Given the description of an element on the screen output the (x, y) to click on. 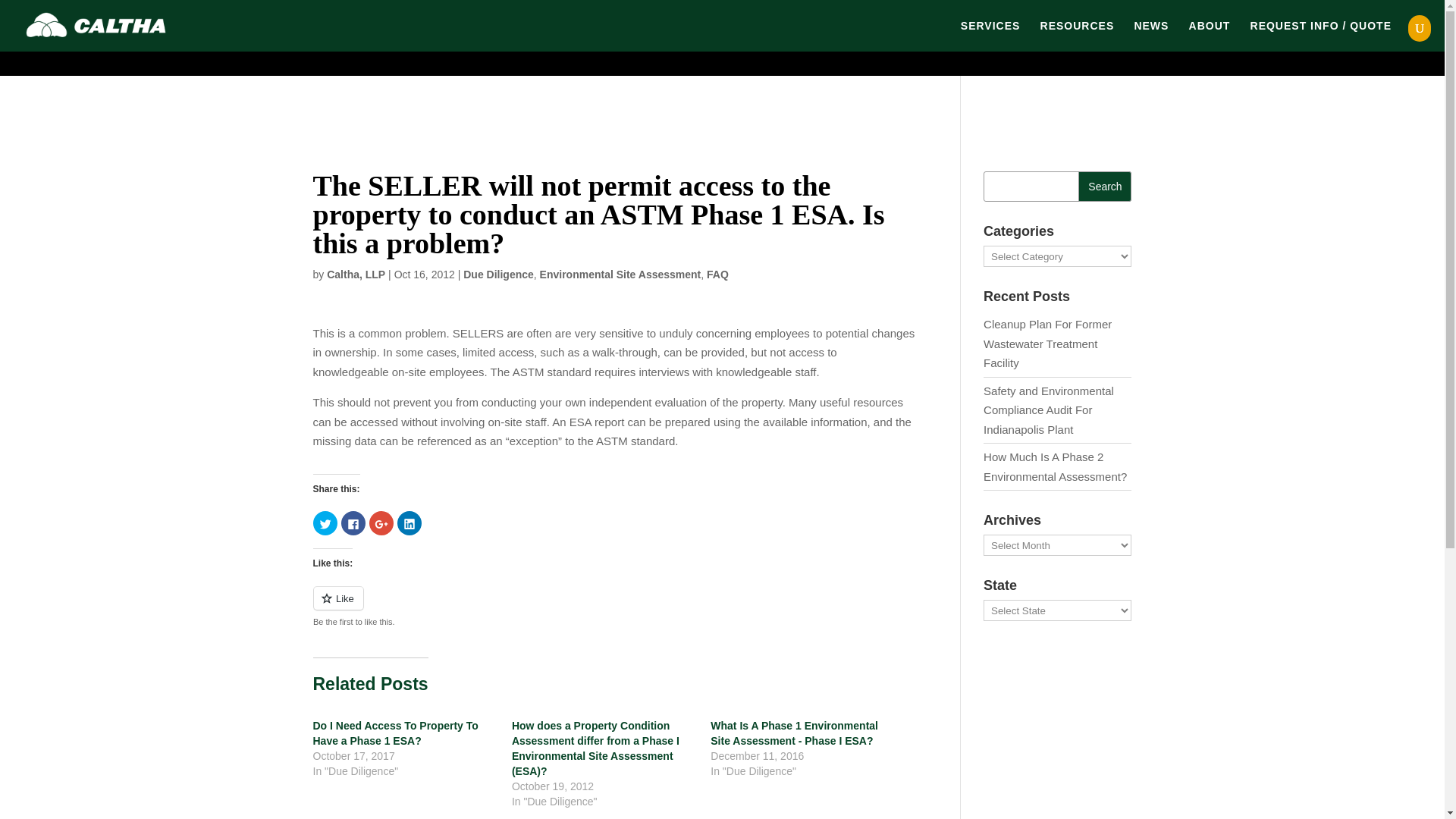
Posts by Caltha, LLP (355, 274)
SERVICES (990, 35)
RESOURCES (1078, 35)
Click to share on Facebook (352, 523)
NEWS (1151, 35)
Click to share on LinkedIn (409, 523)
ABOUT (1209, 35)
Click to share on Twitter (324, 523)
Search (1104, 186)
